Given the description of an element on the screen output the (x, y) to click on. 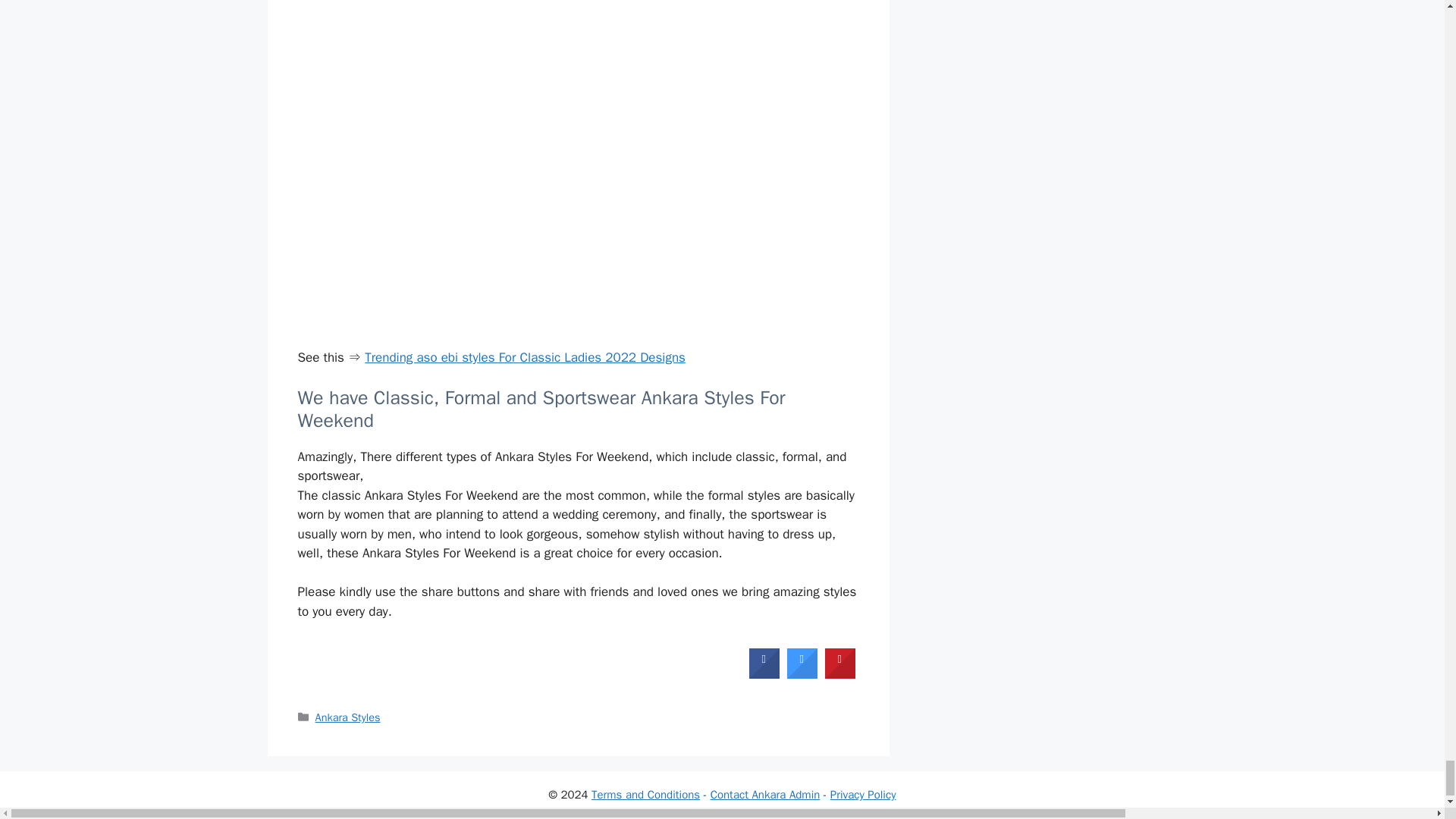
Trending aso ebi styles For Classic Ladies 2022 Designs (525, 357)
Share on Facebook (763, 674)
Ankara Styles (347, 716)
Terms and Conditions (645, 794)
Contact Ankara Admin (765, 794)
Privacy Policy (862, 794)
Share on Twitter (801, 674)
Share on Pinterest (840, 674)
